Given the description of an element on the screen output the (x, y) to click on. 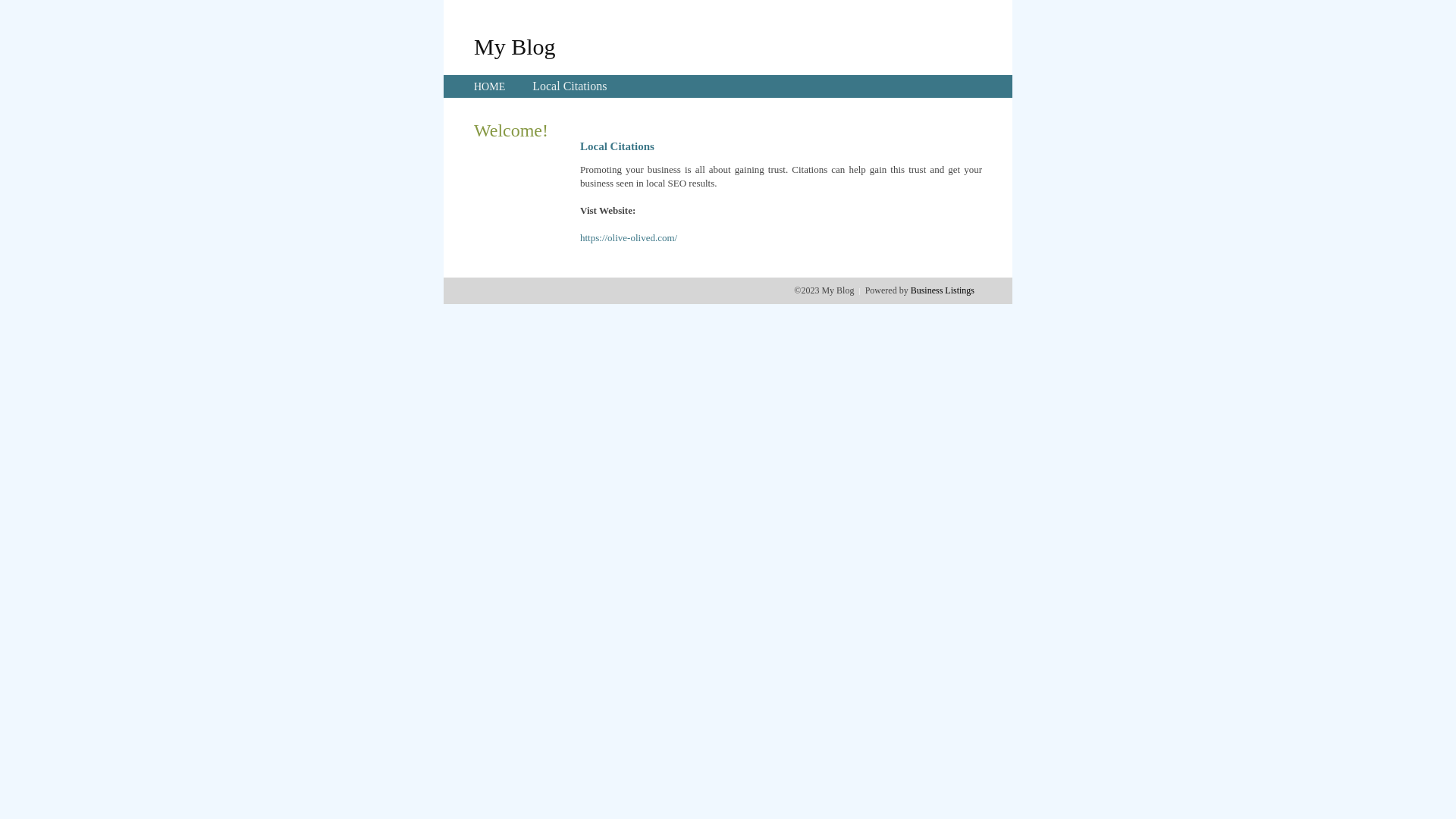
https://olive-olived.com/ Element type: text (628, 237)
Business Listings Element type: text (942, 290)
My Blog Element type: text (514, 46)
HOME Element type: text (489, 86)
Local Citations Element type: text (569, 85)
